Given the description of an element on the screen output the (x, y) to click on. 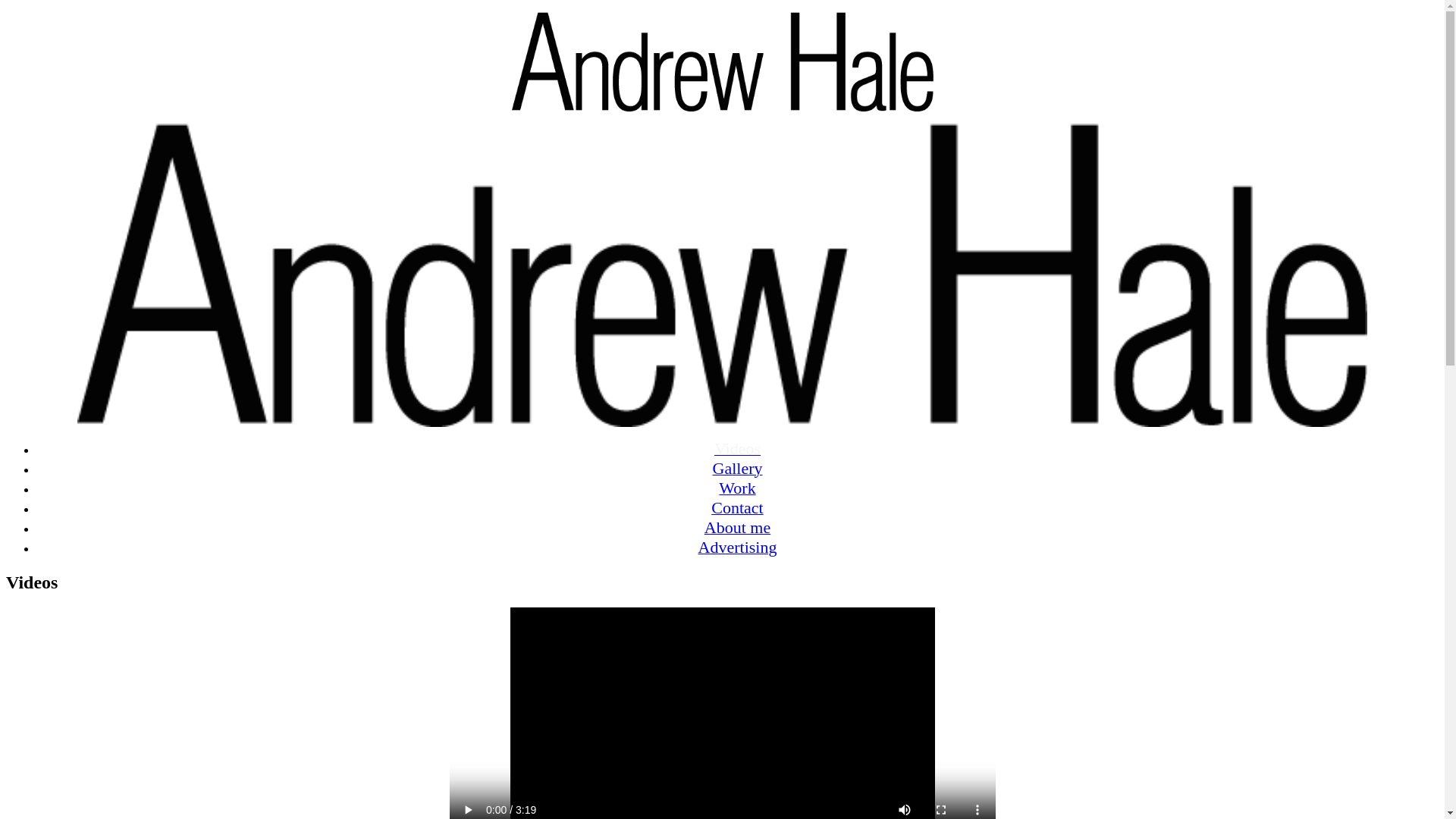
Videos Element type: text (737, 449)
About me Element type: text (737, 528)
Work Element type: text (736, 489)
Gallery Element type: text (737, 469)
Contact Element type: text (736, 508)
Advertising Element type: text (737, 548)
